Given the description of an element on the screen output the (x, y) to click on. 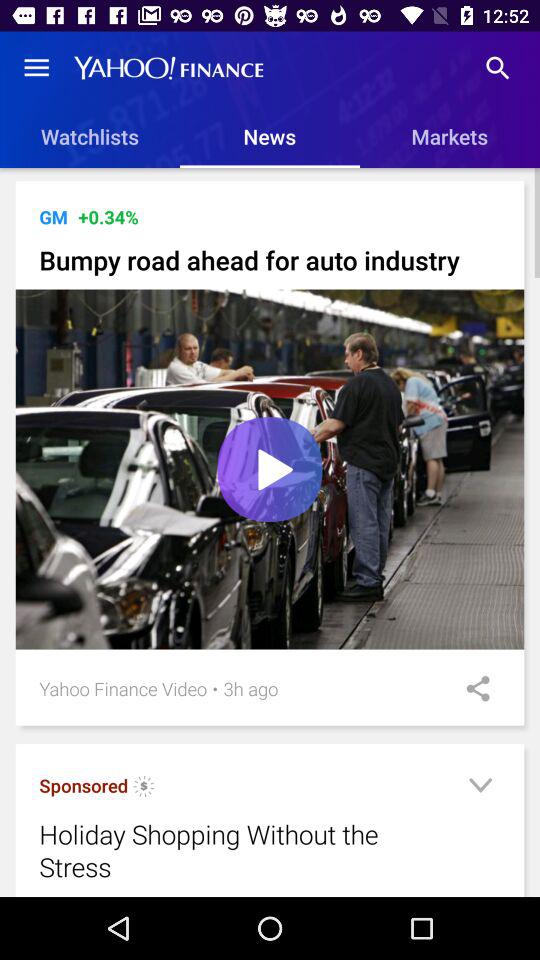
choose the icon next to the gm item (108, 216)
